Given the description of an element on the screen output the (x, y) to click on. 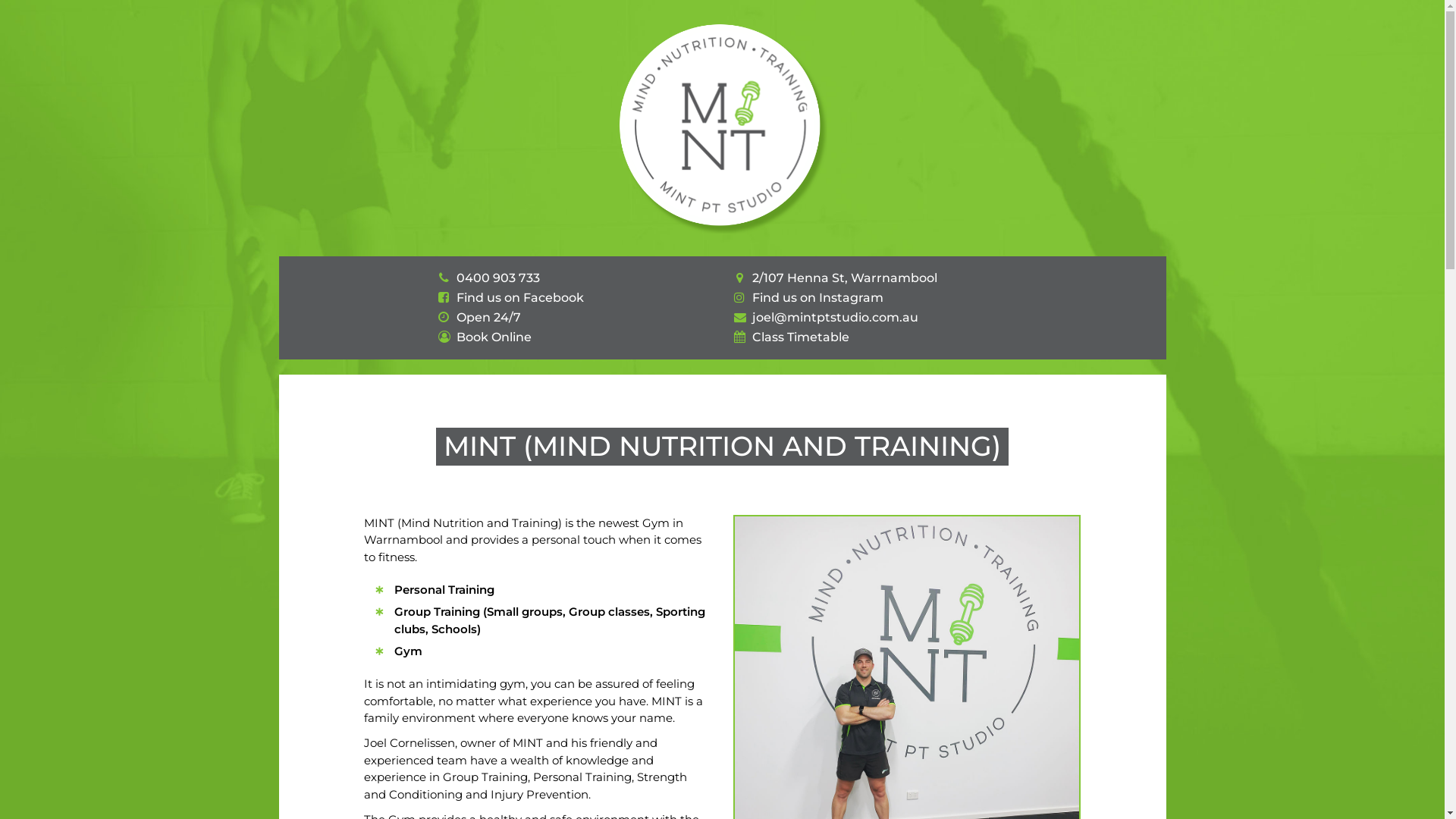
Book Online Element type: text (493, 336)
Find us on Facebook Element type: text (519, 297)
0400 903 733 Element type: text (497, 277)
Find us on Instagram Element type: text (817, 297)
2/107 Henna St, Warrnambool Element type: text (844, 277)
joel@mintptstudio.com.au Element type: text (835, 317)
Class Timetable Element type: text (800, 336)
